Given the description of an element on the screen output the (x, y) to click on. 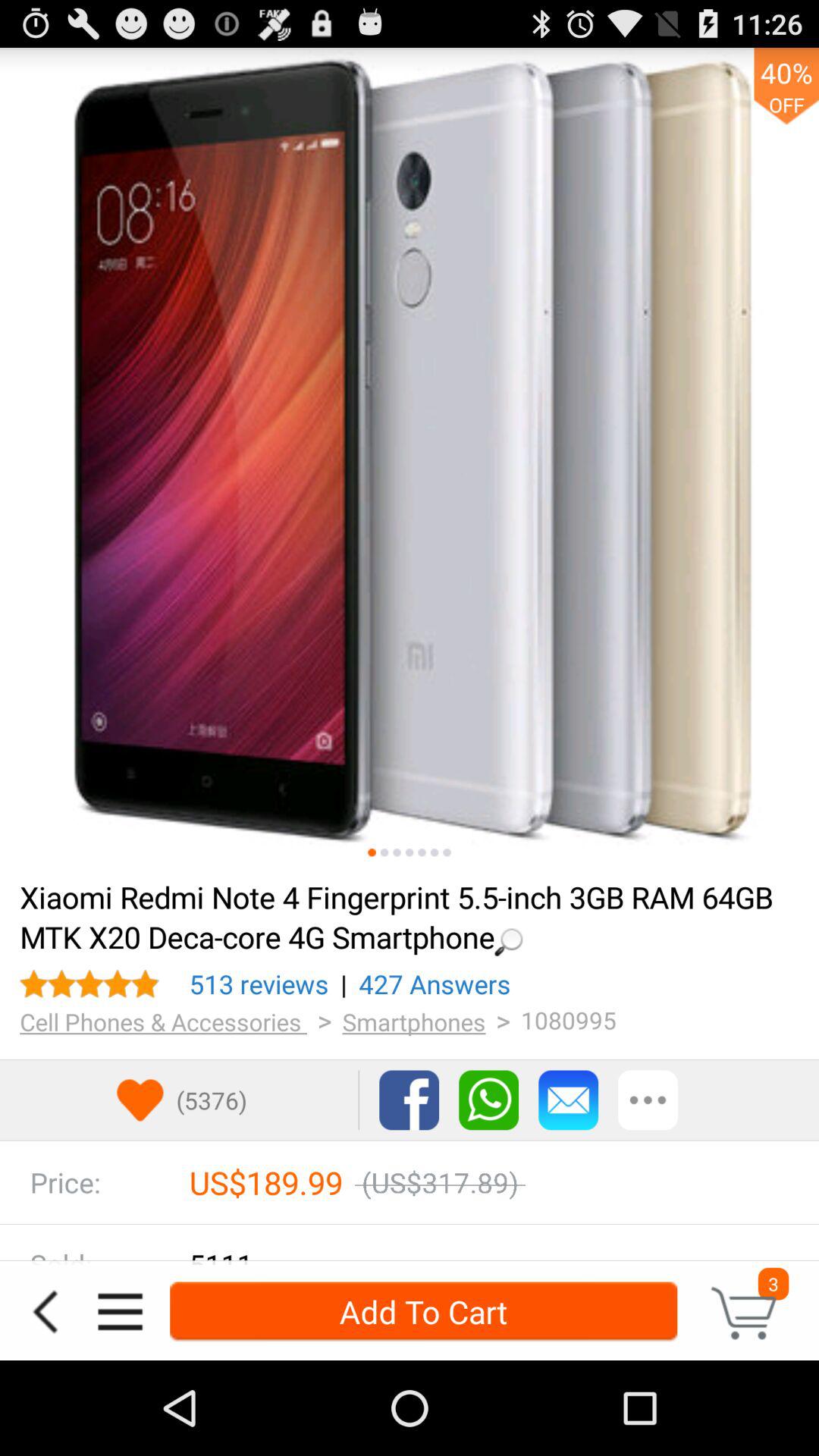
call the company (488, 1100)
